Given the description of an element on the screen output the (x, y) to click on. 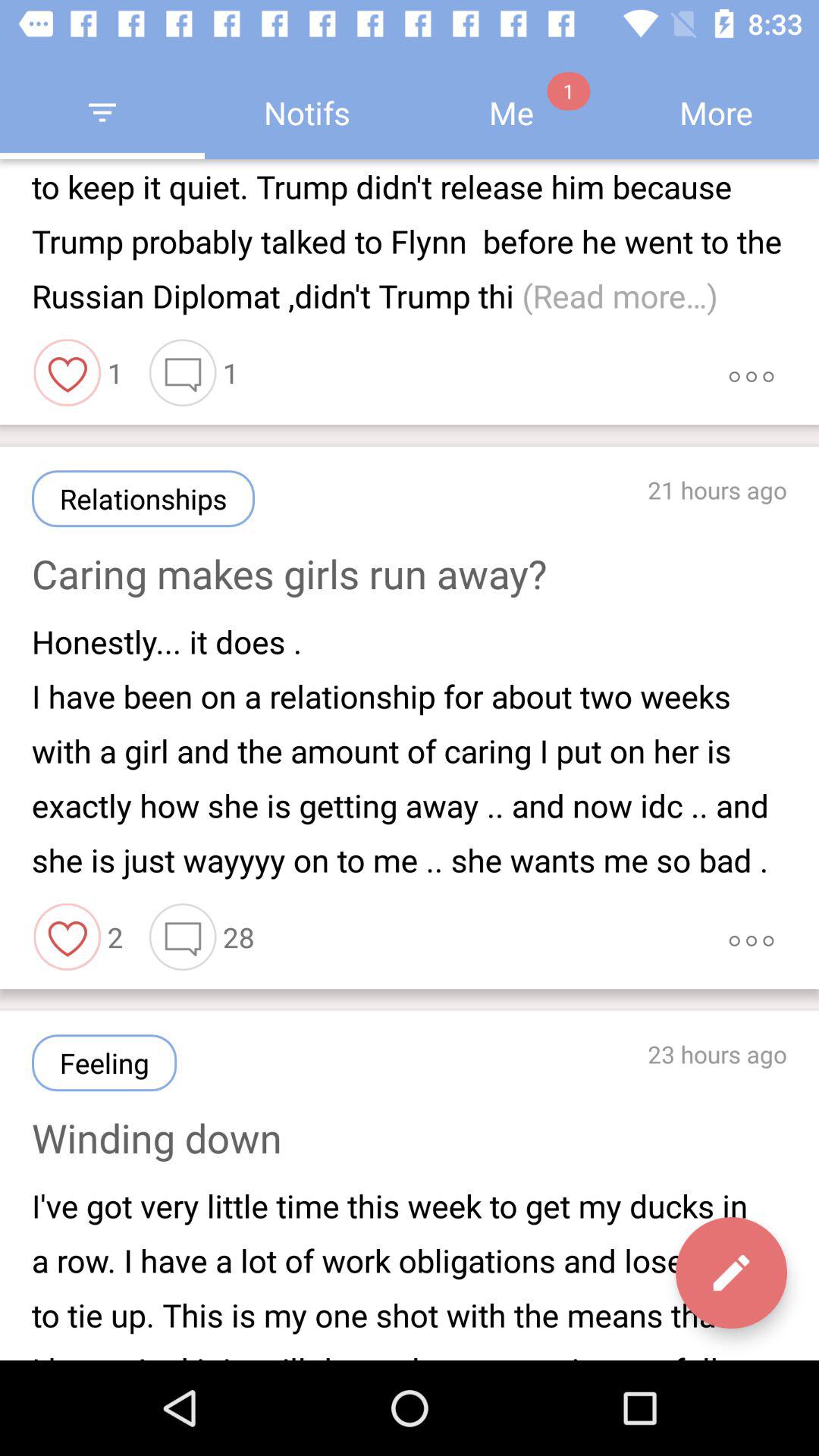
choose item at the bottom left corner (103, 1062)
